Given the description of an element on the screen output the (x, y) to click on. 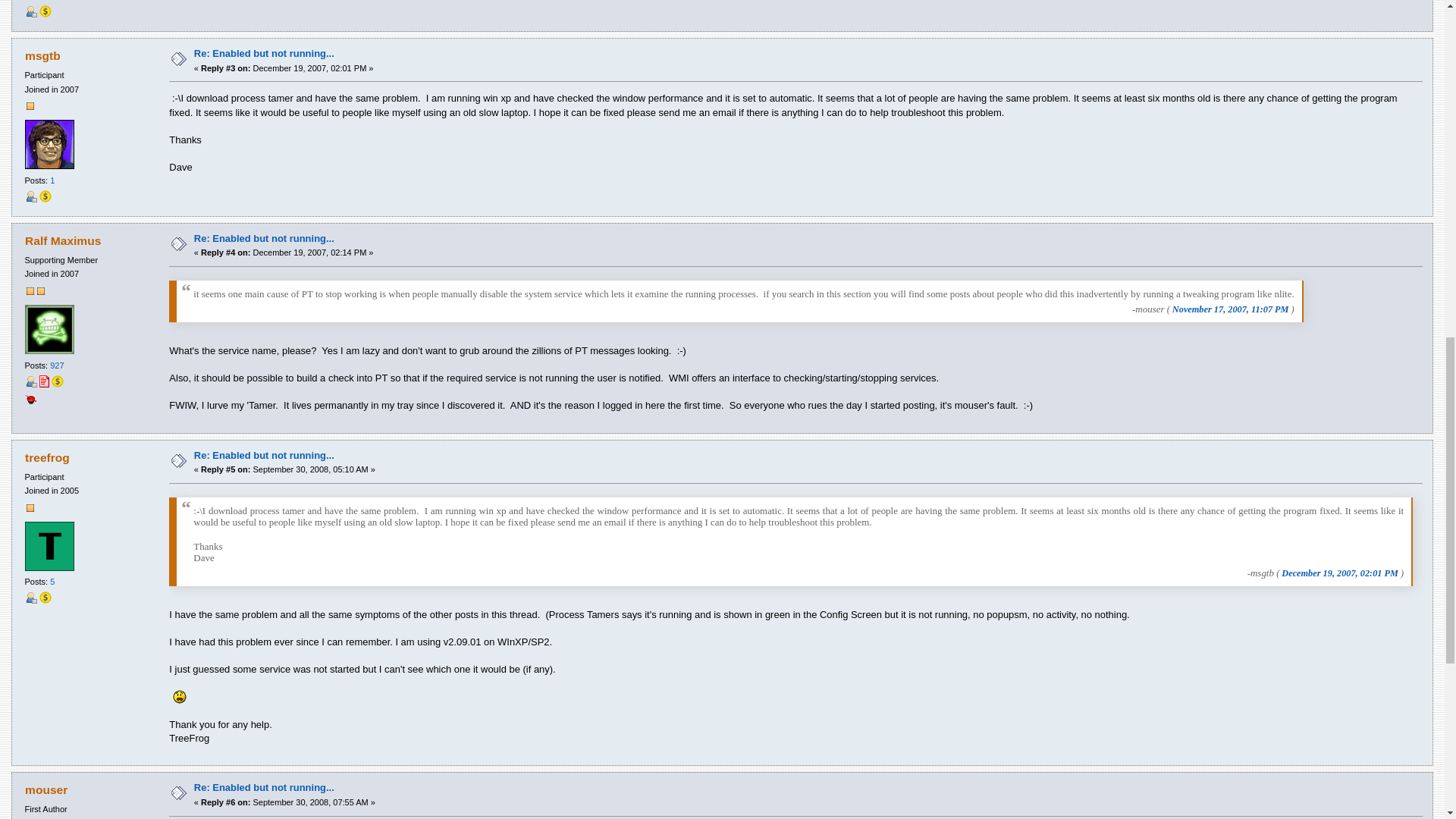
View Profile (30, 10)
